Given the description of an element on the screen output the (x, y) to click on. 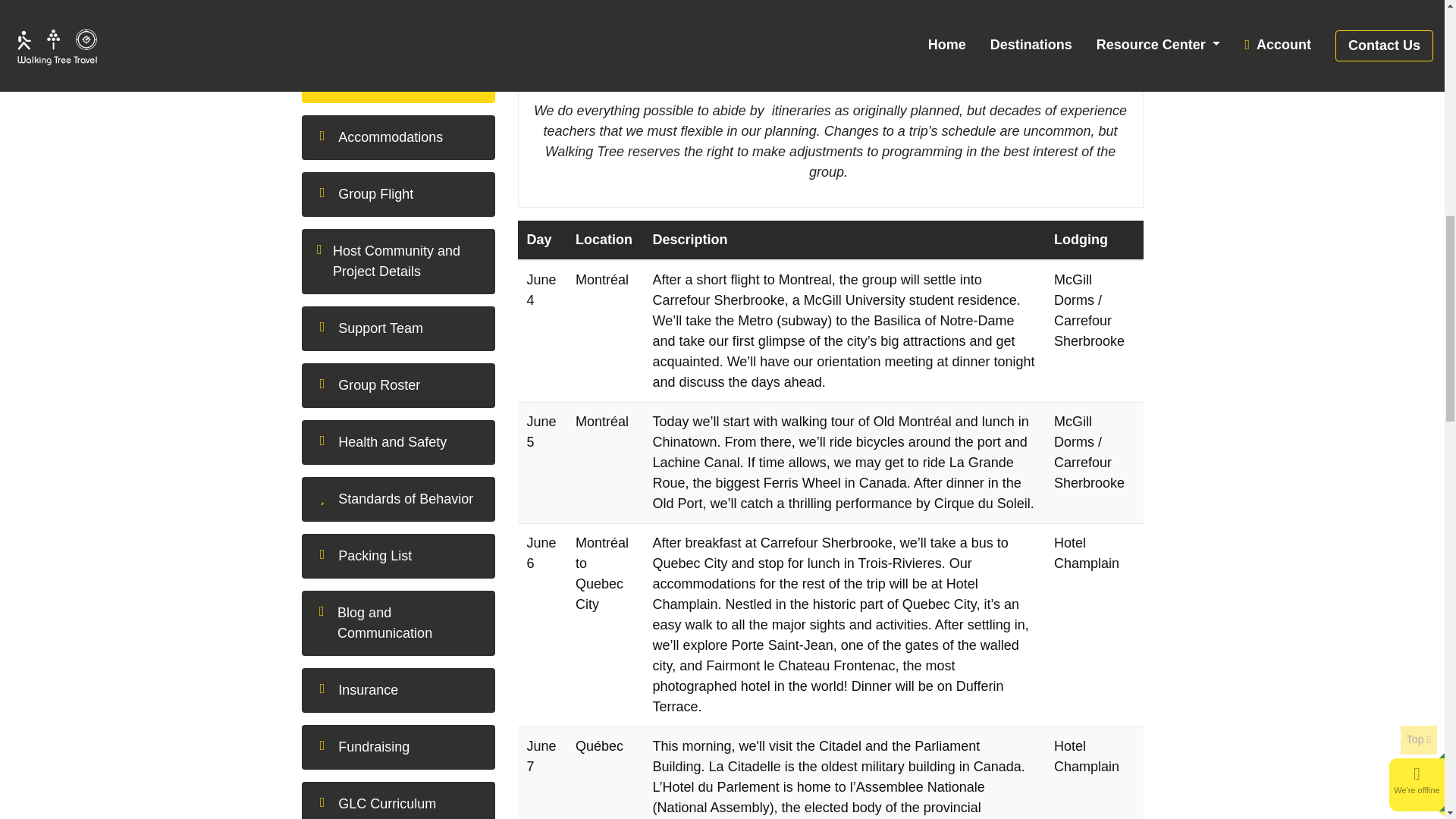
Packing List (398, 555)
Itinerary (398, 80)
Fundraising (398, 746)
Insurance (398, 690)
Host Community and Project Details (398, 261)
Group Roster (398, 385)
Group Flight (398, 194)
Health and Safety (398, 442)
Support Team (398, 328)
Accommodations (398, 137)
Blog and Communication (398, 623)
Standards of Behavior (398, 498)
GLC Curriculum (398, 800)
